Given the description of an element on the screen output the (x, y) to click on. 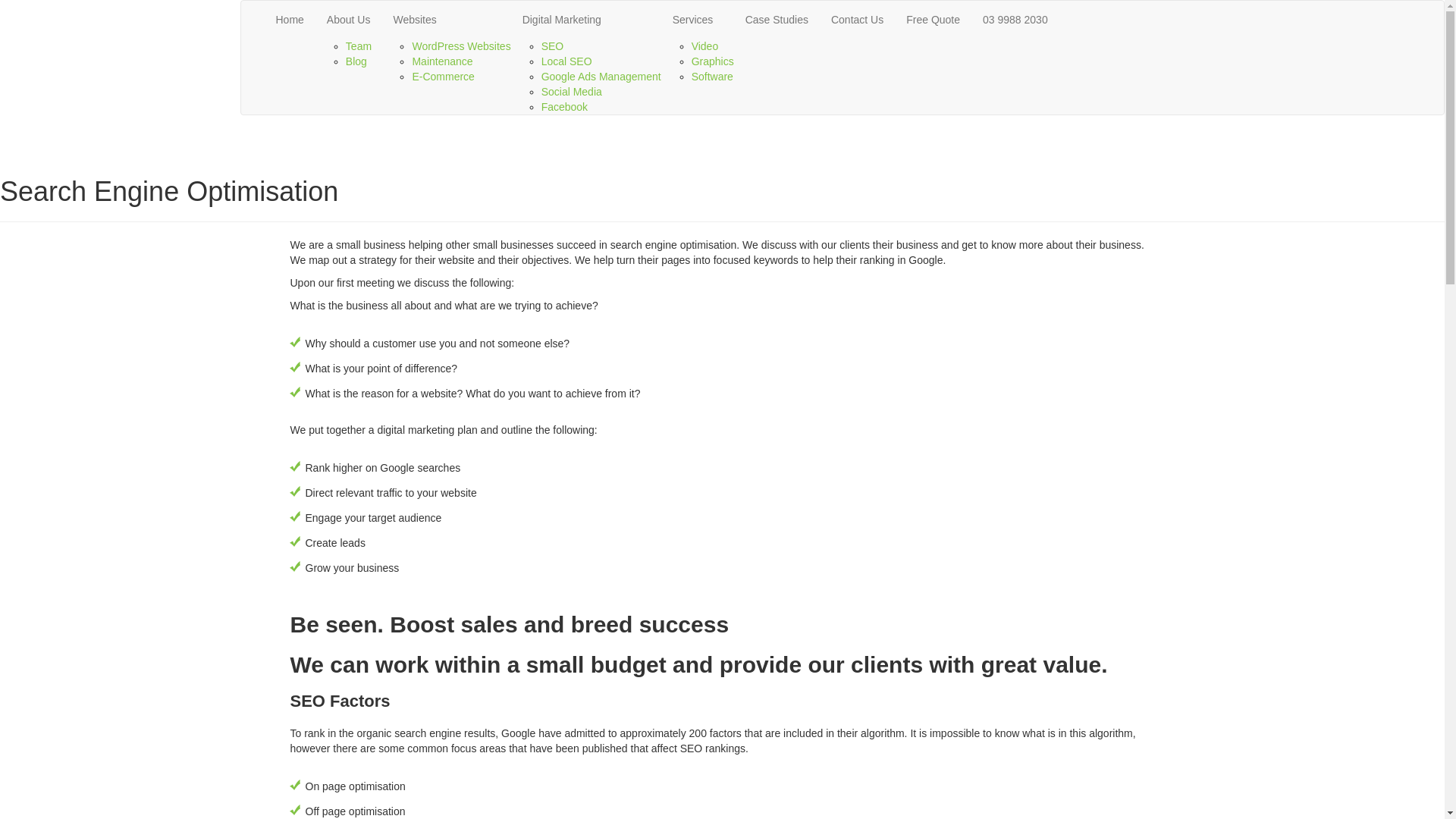
WordPress Websites Element type: text (460, 46)
Websites Element type: text (445, 19)
Graphics Element type: text (712, 61)
E-Commerce Element type: text (442, 76)
Local SEO Element type: text (566, 61)
Software Element type: text (712, 76)
03 9988 2030 Element type: text (1015, 19)
About Us Element type: text (348, 19)
Case Studies Element type: text (776, 19)
Team Element type: text (358, 46)
Home Element type: text (288, 19)
Video Element type: text (704, 46)
Blog Element type: text (356, 61)
Facebook Element type: text (564, 106)
Digital Marketing Element type: text (586, 19)
Free Quote Element type: text (932, 19)
Social Media Element type: text (571, 91)
Maintenance Element type: text (441, 61)
SEO Element type: text (552, 46)
Contact Us Element type: text (856, 19)
Services Element type: text (697, 19)
Google Ads Management Element type: text (601, 76)
